Given the description of an element on the screen output the (x, y) to click on. 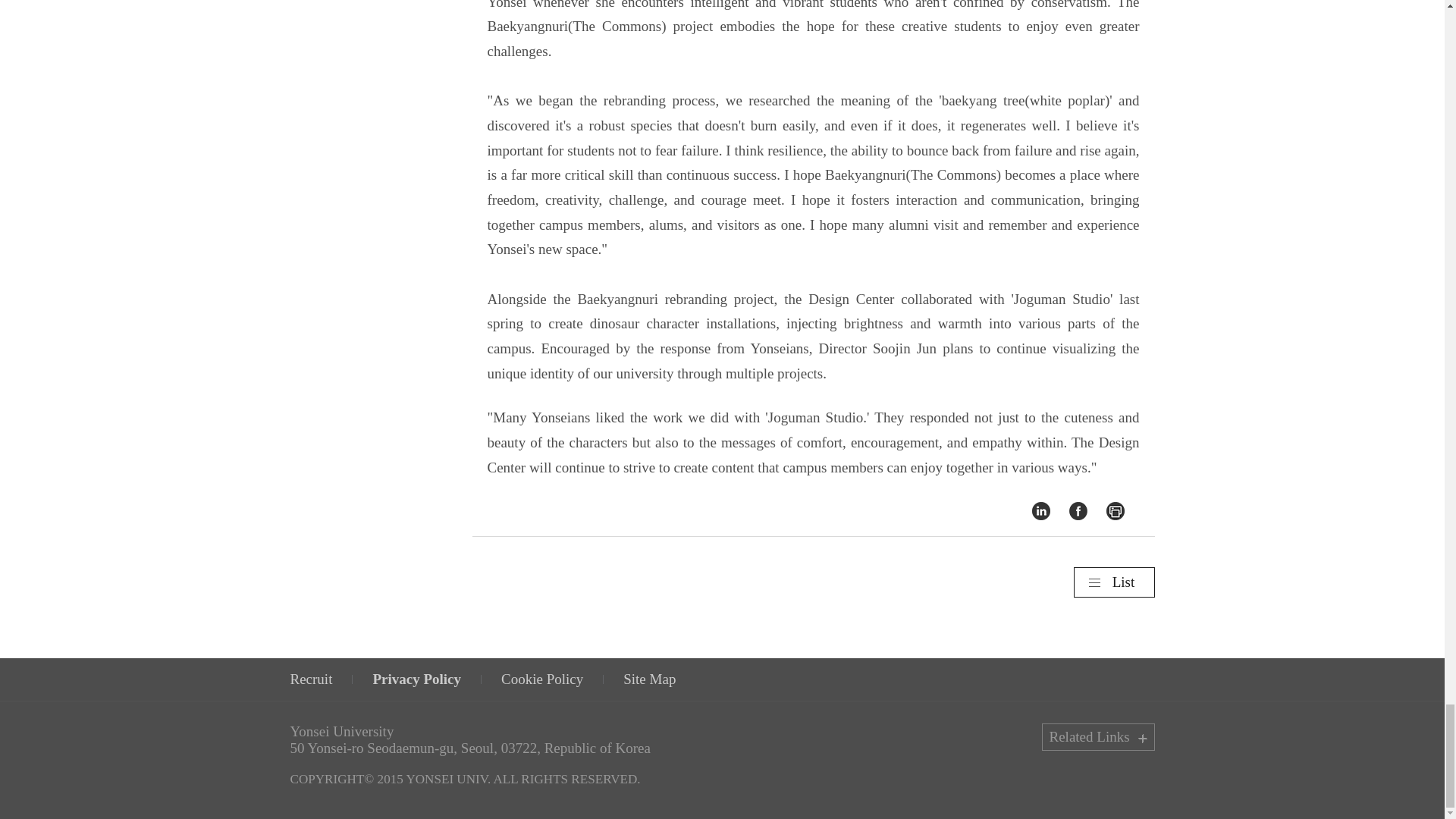
go to print (1114, 509)
go to facebook (1077, 509)
go to linkedin (1040, 509)
